Given the description of an element on the screen output the (x, y) to click on. 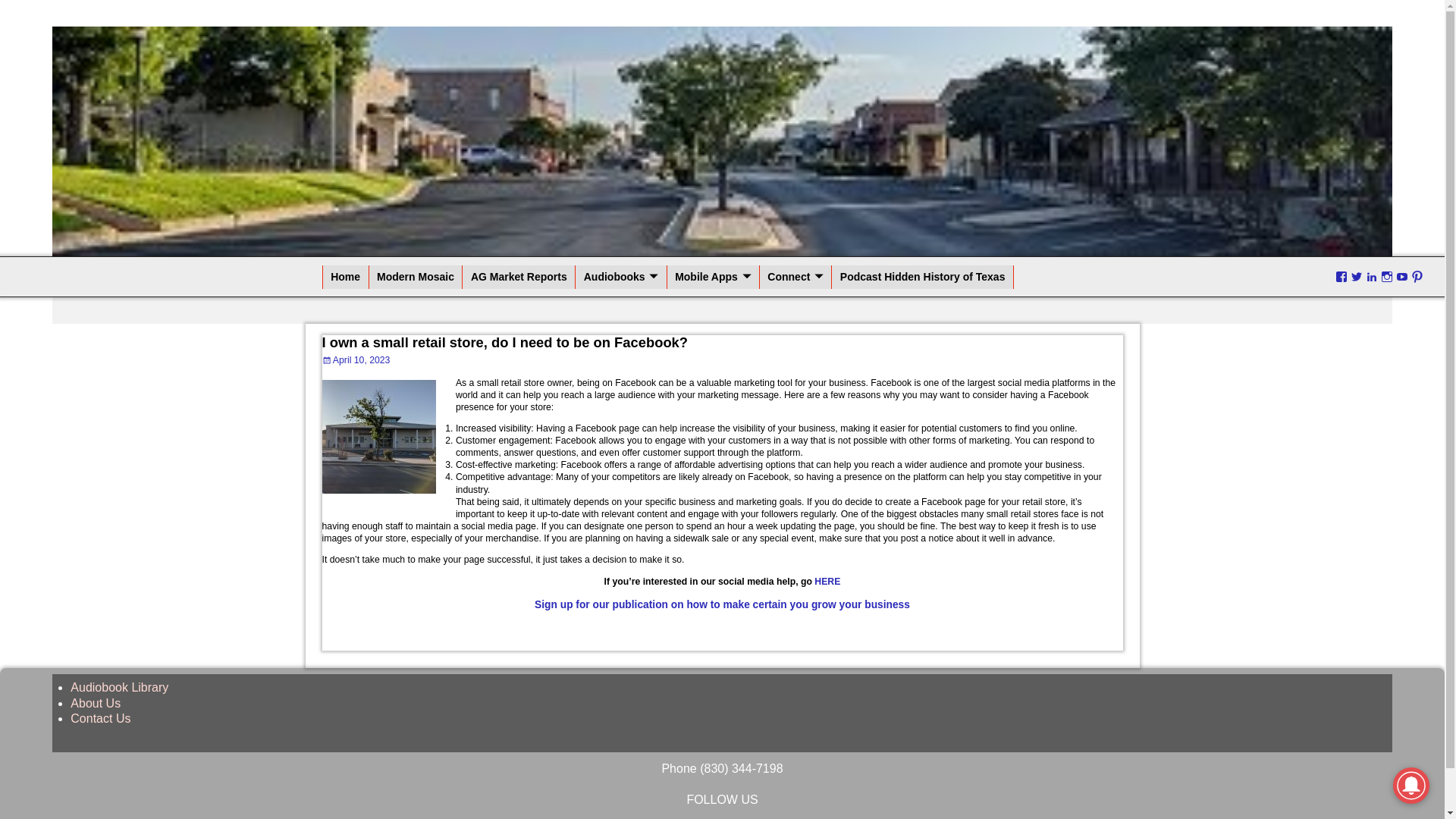
A.R.C. (357, 10)
Connect (796, 277)
About Us (94, 703)
Modern Mosaic (416, 277)
A.R.C. (357, 10)
Facebook: social networking (1341, 277)
LinkedIn: Professional contact information (1371, 277)
Mobile Apps (713, 277)
Audiobooks (620, 277)
Home (346, 277)
Pintrest: All the things that inspire you. (1416, 277)
Twitter (1356, 277)
Contact Us (100, 717)
6:41 pm (355, 359)
